Given the description of an element on the screen output the (x, y) to click on. 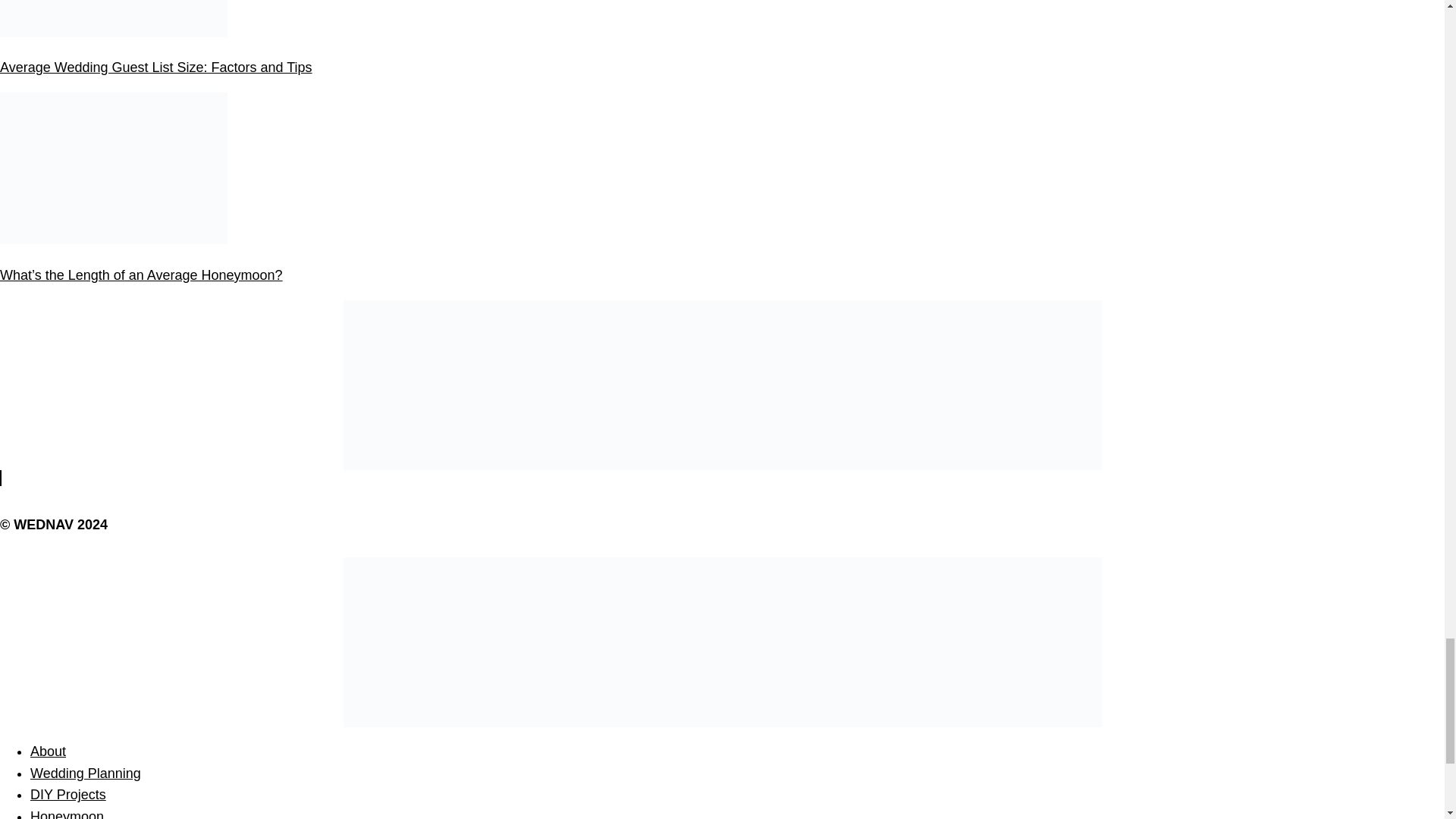
Average Wedding Guest List Size: Factors and Tips (156, 67)
Honeymoon (66, 814)
DIY Projects (68, 794)
Wedding Planning (85, 773)
About (47, 751)
